Given the description of an element on the screen output the (x, y) to click on. 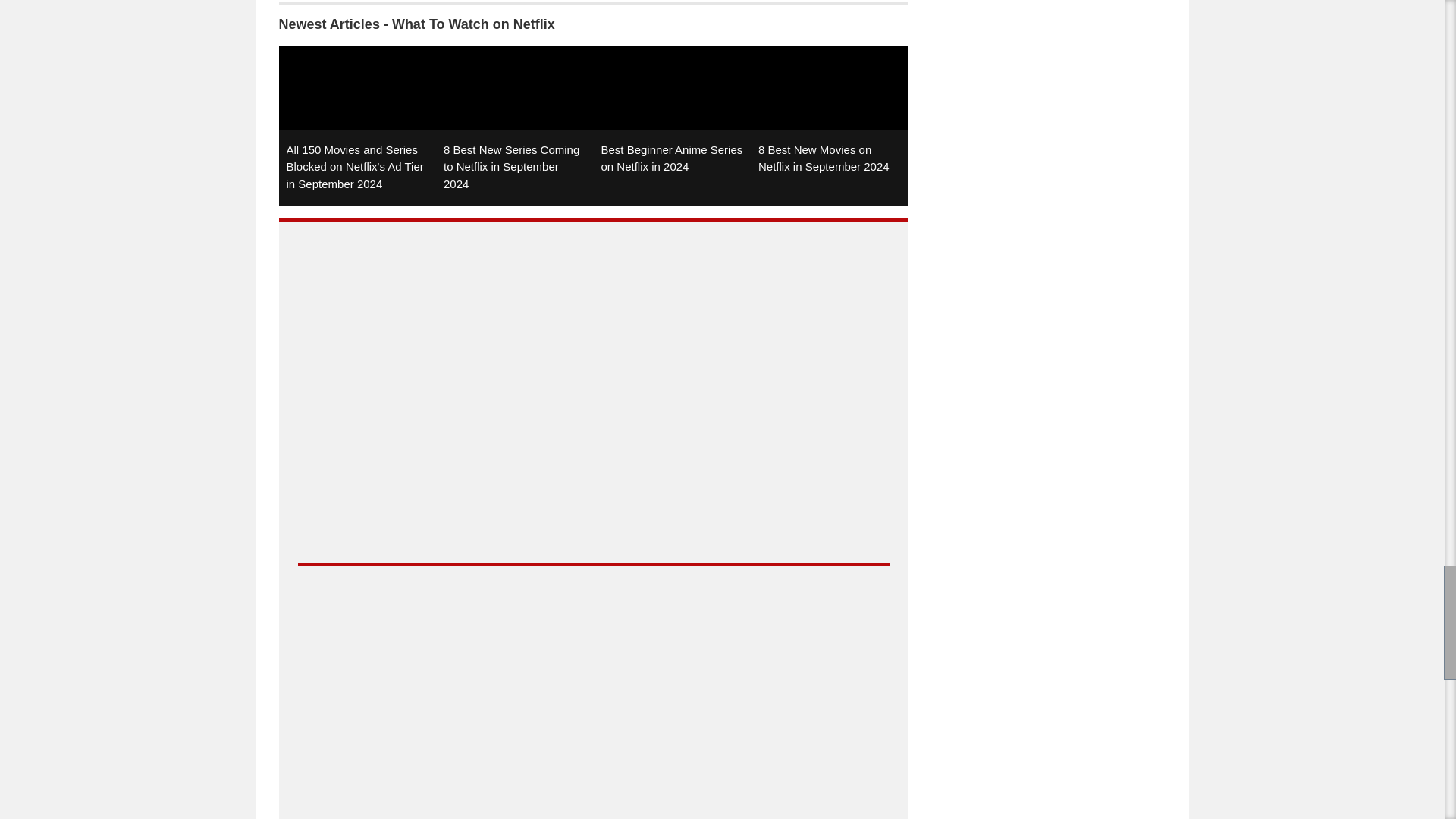
Best Beginner Anime Series on Netflix in 2024 (671, 125)
8 Best New Series Coming to Netflix in September 2024 (514, 125)
8 Best New Movies on Netflix in September 2024 (829, 125)
Best Beginner Anime Series on Netflix in 2024 (671, 125)
8 Best New Series Coming to Netflix in September 2024 (514, 125)
8 Best New Movies on Netflix in September 2024 (829, 125)
